Given the description of an element on the screen output the (x, y) to click on. 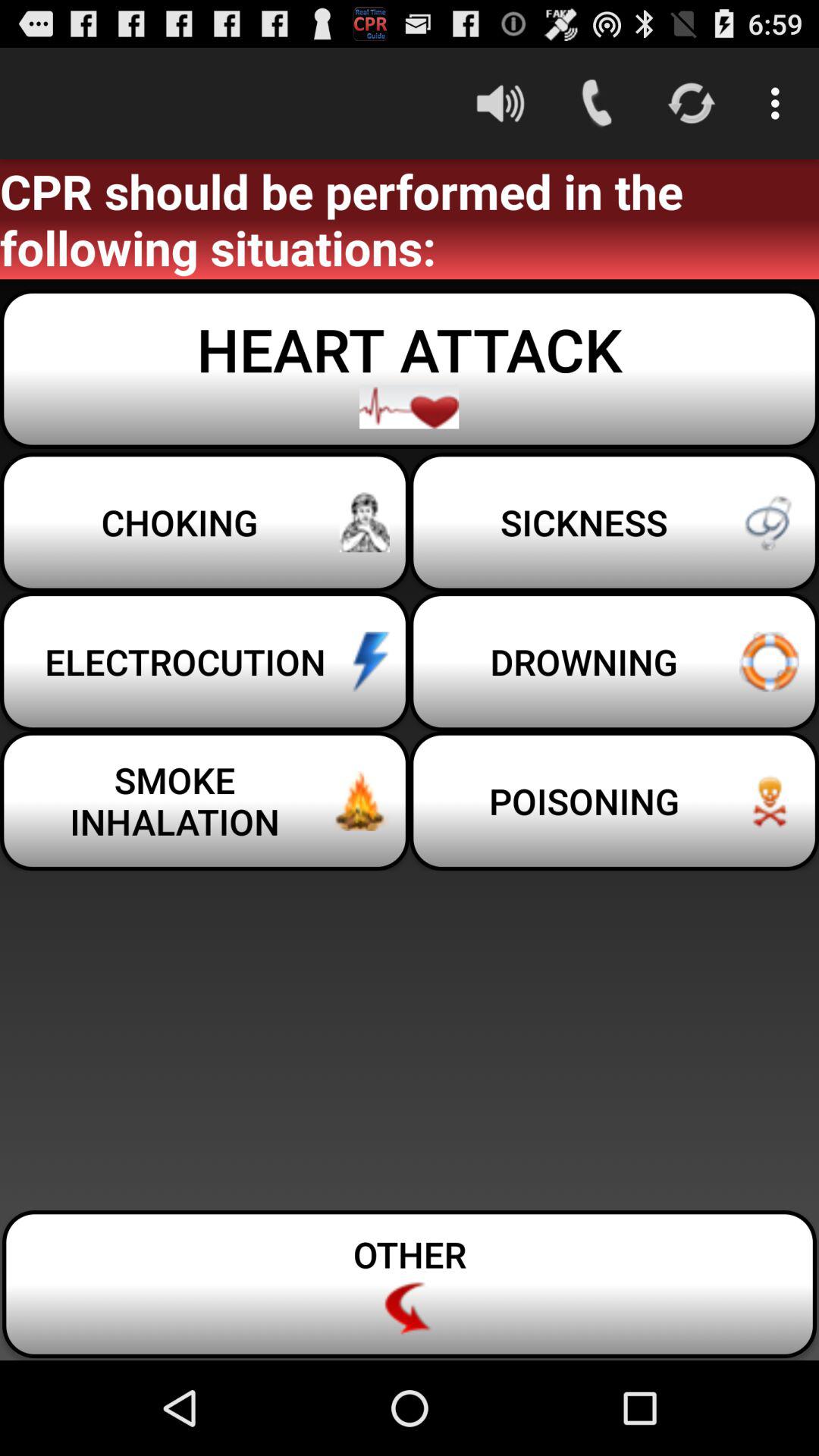
press icon to the left of the sickness button (204, 522)
